Given the description of an element on the screen output the (x, y) to click on. 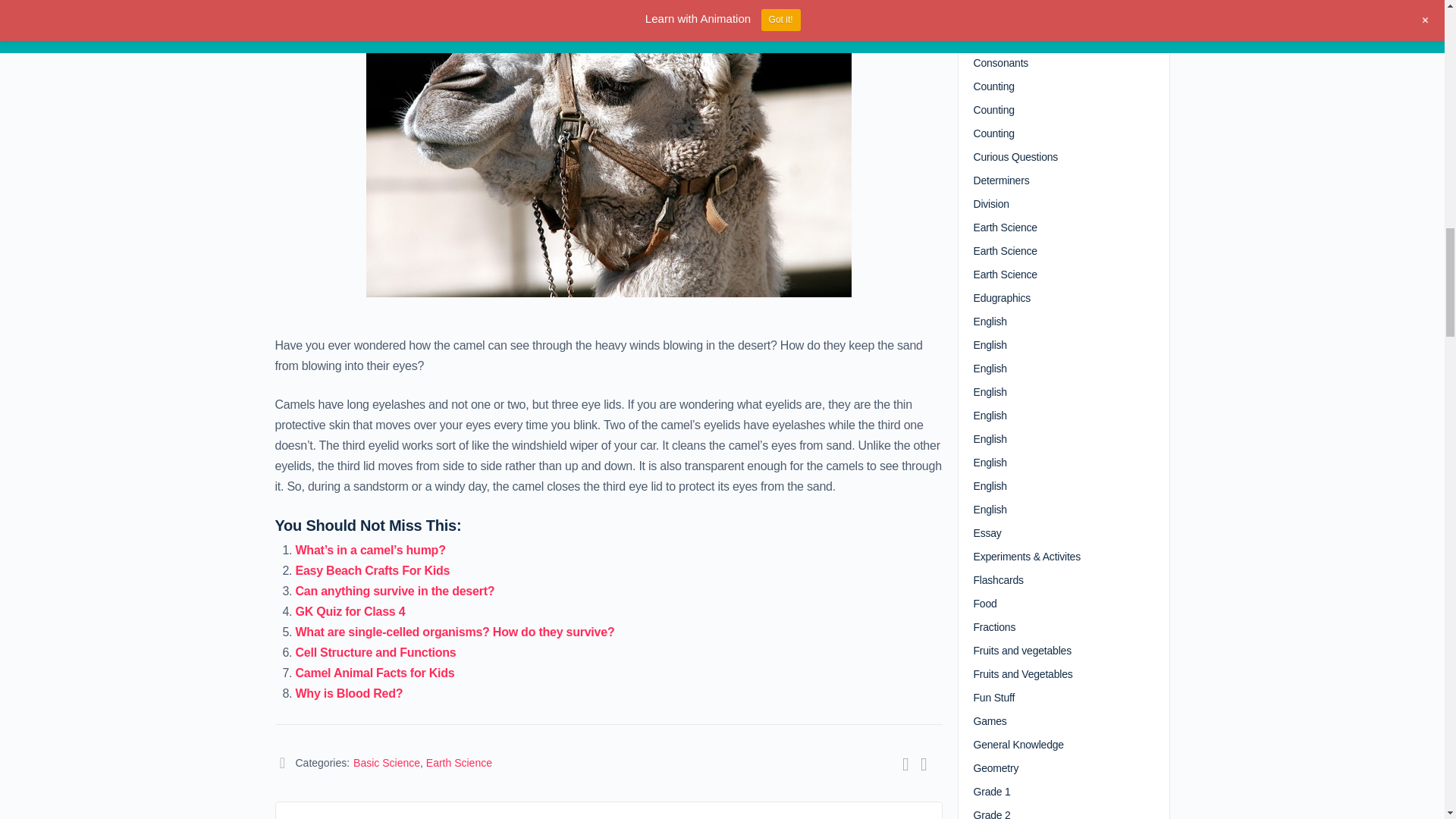
Camel Animal Facts for Kids (374, 672)
Why is Blood Red? (349, 693)
What are single-celled organisms? How do they survive? (454, 631)
Cell Structure and Functions (376, 652)
Can anything survive in the desert? (395, 590)
GK Quiz for Class 4 (350, 611)
Easy Beach Crafts For Kids (372, 570)
